Given the description of an element on the screen output the (x, y) to click on. 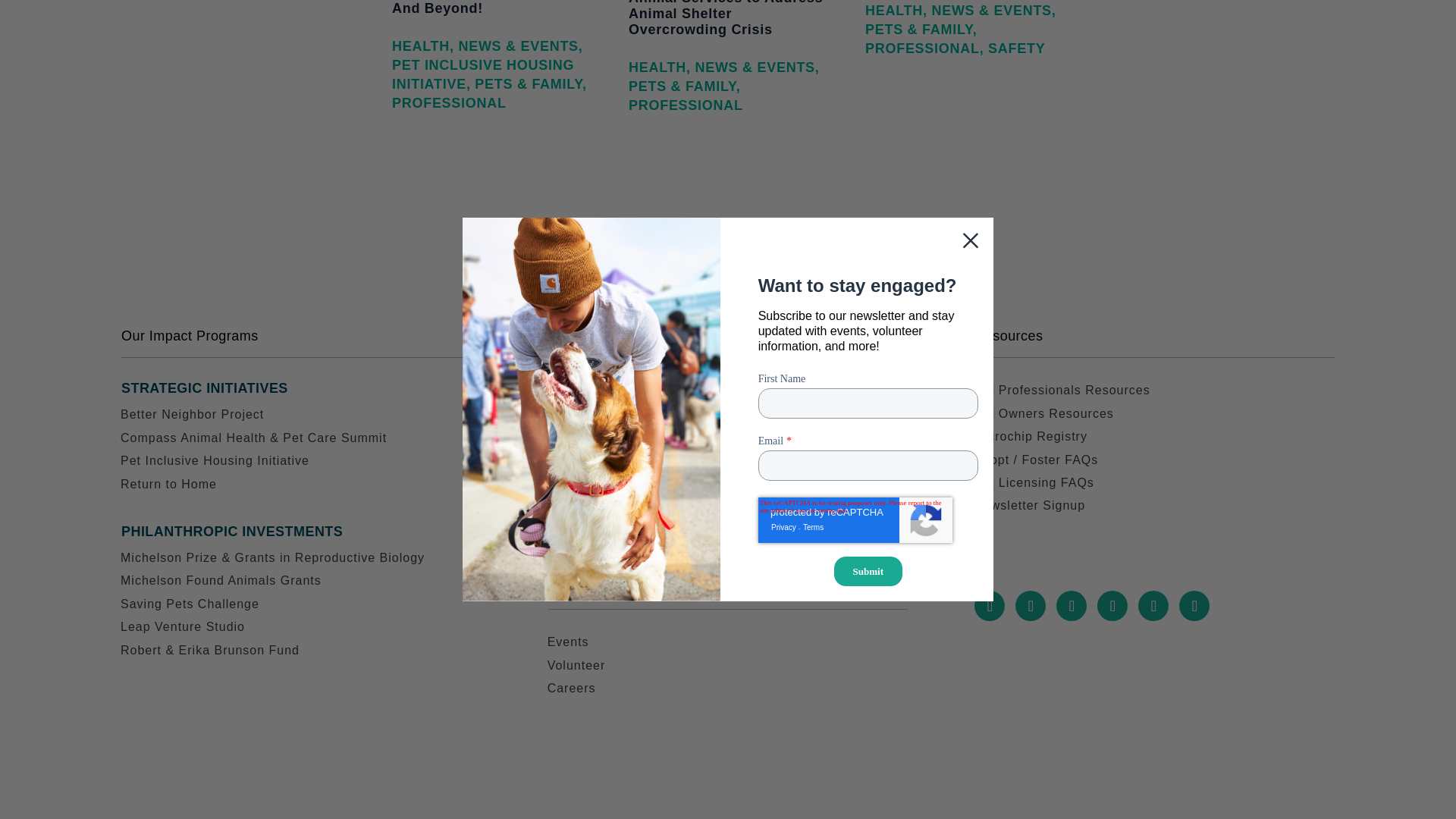
Follow on Facebook (989, 605)
Follow on TikTok (1194, 605)
Follow on Instagram (1071, 605)
Follow on Twitter (1029, 605)
Follow on LinkedIn (1153, 605)
Follow on Youtube (1111, 605)
